Given the description of an element on the screen output the (x, y) to click on. 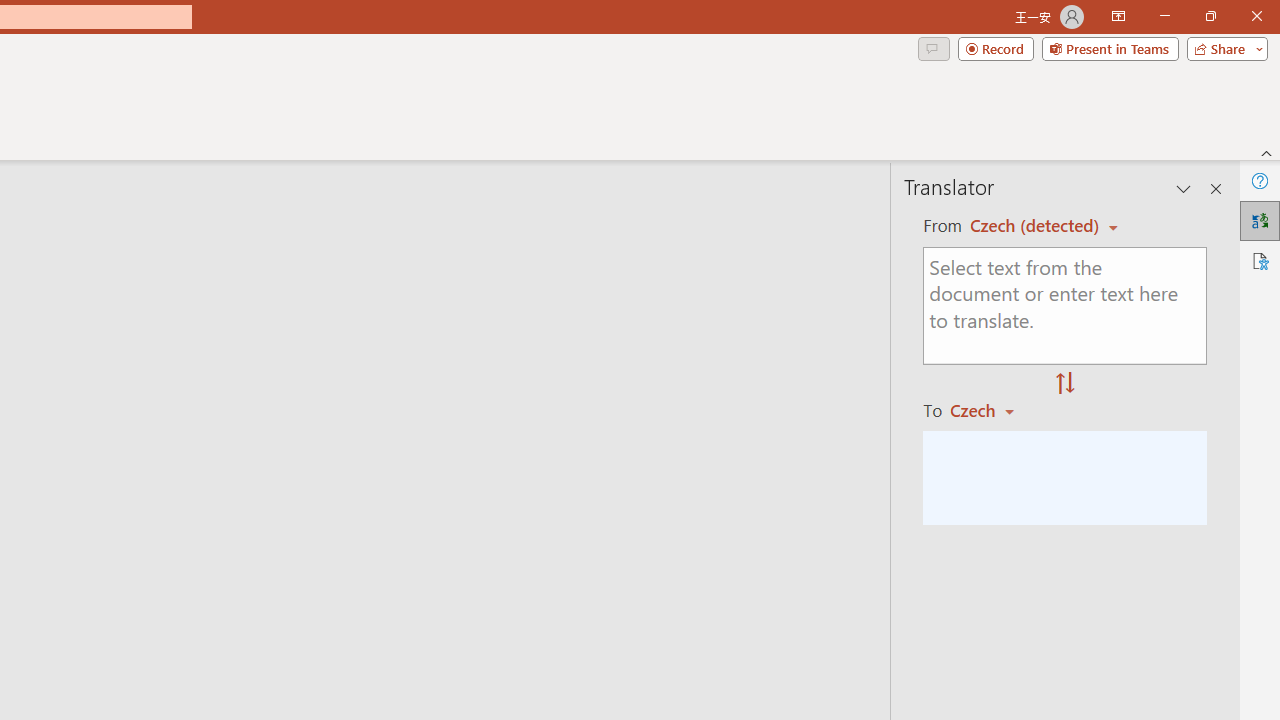
Czech (991, 409)
